Given the description of an element on the screen output the (x, y) to click on. 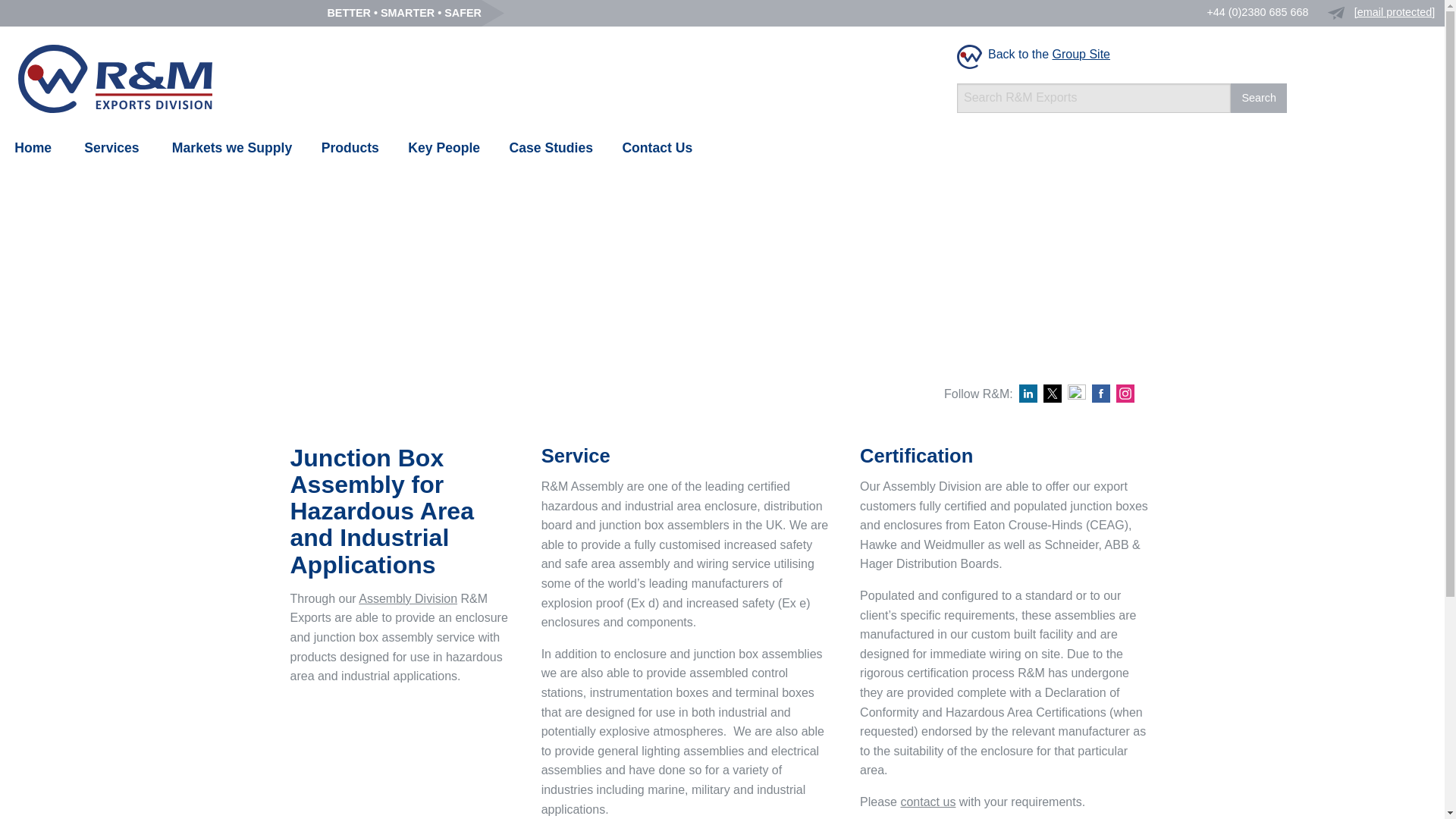
Group Site (1080, 53)
Search (1258, 98)
Home (32, 148)
Search (1258, 98)
Search for: (1093, 98)
Search (1258, 98)
Markets we Supply (232, 148)
Services (111, 148)
